Given the description of an element on the screen output the (x, y) to click on. 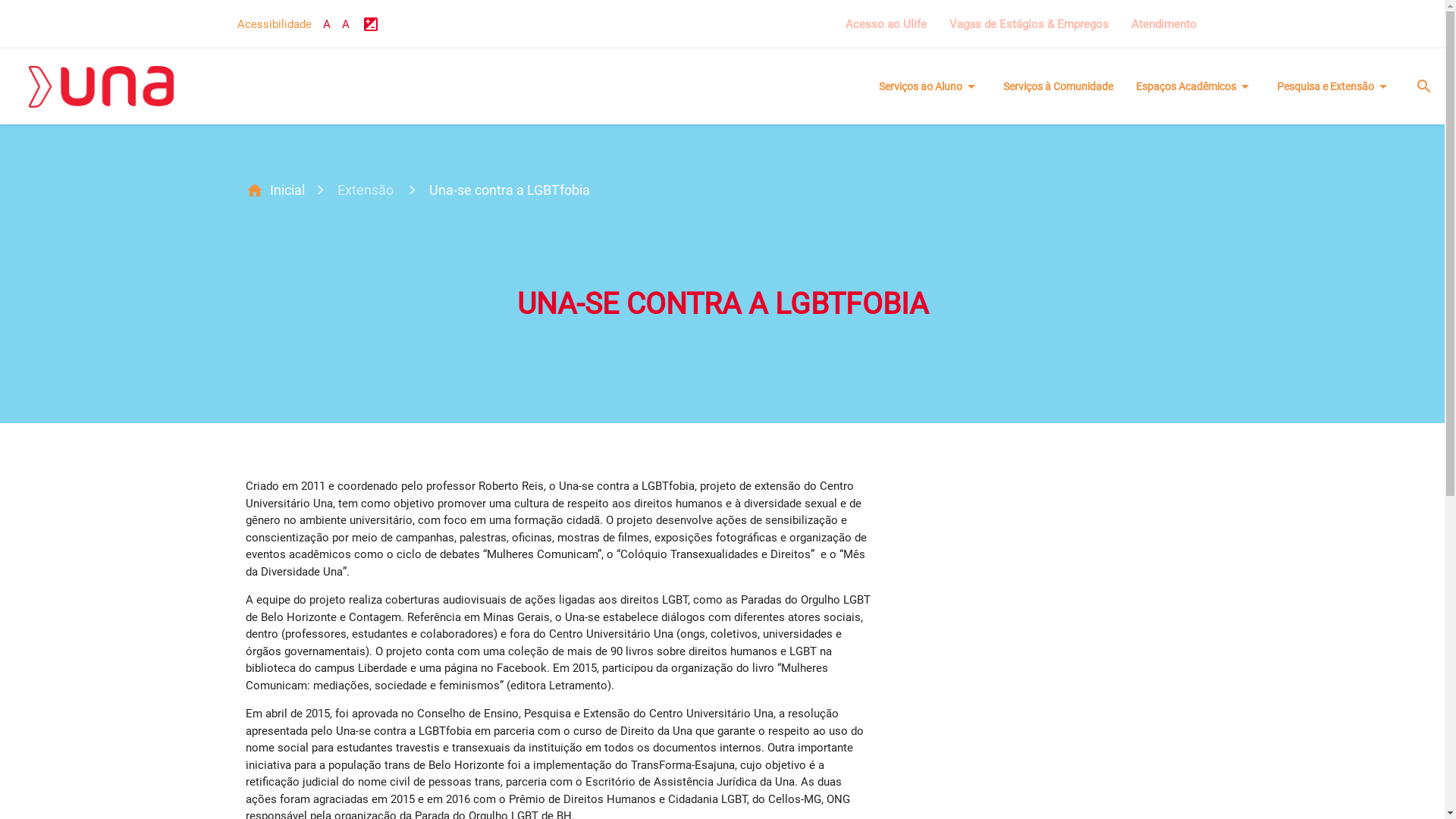
Acesso ao Ulife Element type: text (886, 24)
search Element type: text (1423, 86)
home
  Inicial Element type: text (283, 190)
A Element type: text (345, 24)
iso Element type: text (370, 24)
A Element type: text (326, 24)
Atendimento Element type: text (1163, 24)
